Given the description of an element on the screen output the (x, y) to click on. 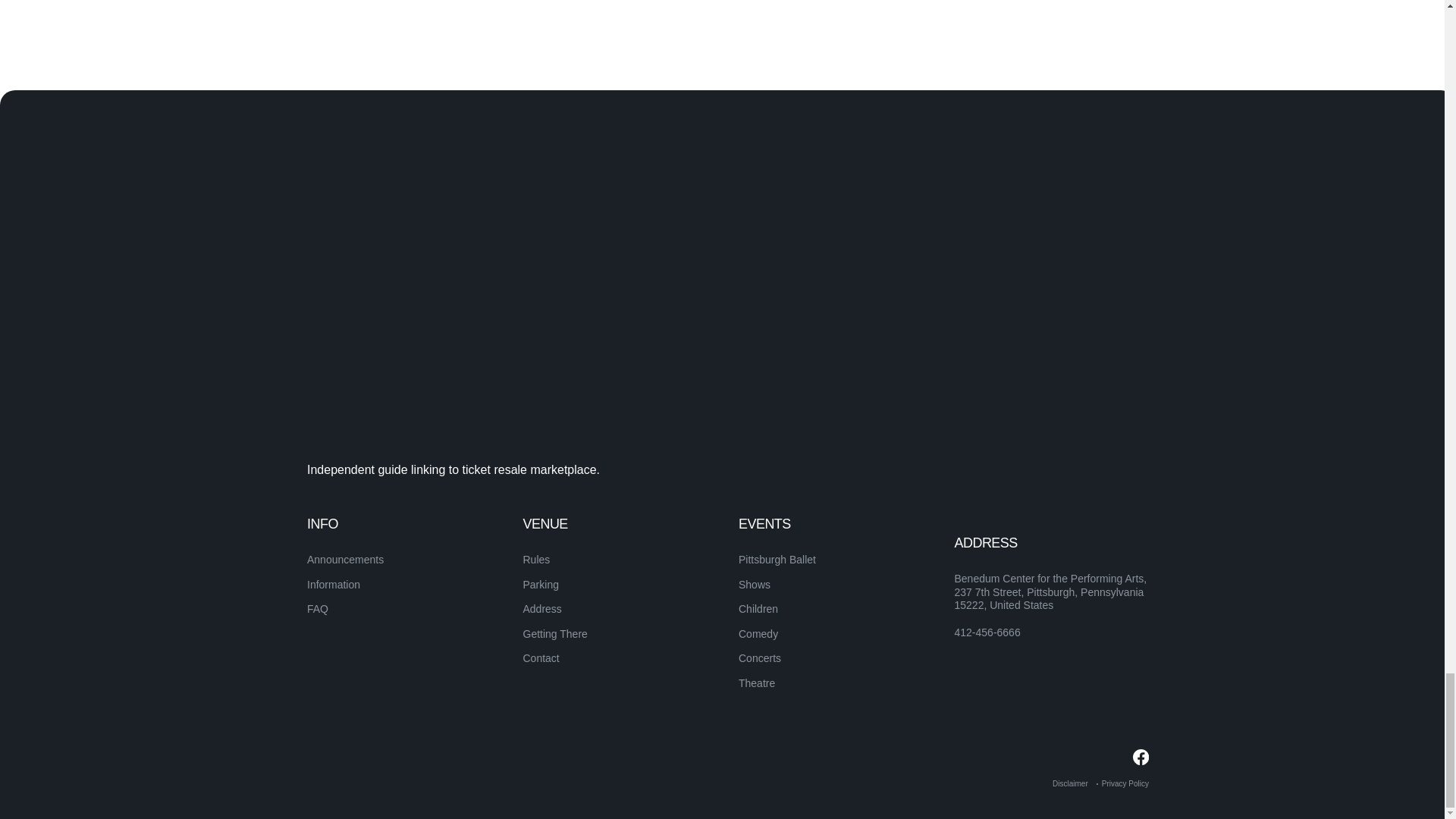
Pittsburgh Ballet (776, 559)
Information (333, 584)
Theatre (756, 683)
Concerts (759, 657)
Comedy (757, 633)
Announcements (345, 559)
SUBSCRIBE (1095, 552)
Rules (536, 559)
412-456-6666 (986, 632)
Parking (540, 584)
FAQ (318, 608)
Address (542, 608)
Children (757, 608)
Shows (754, 584)
Getting There (555, 633)
